Given the description of an element on the screen output the (x, y) to click on. 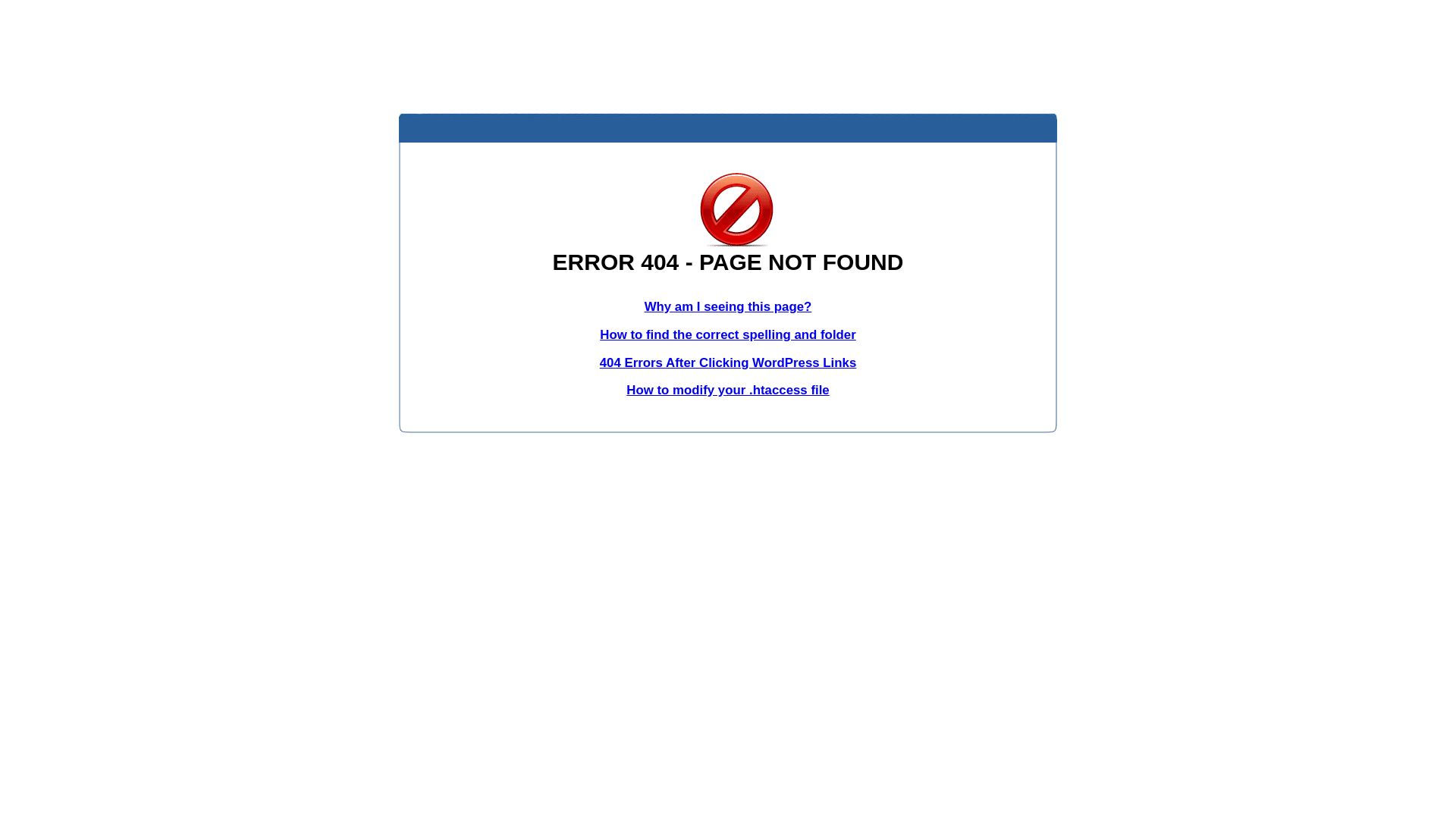
Why am I seeing this page? Element type: text (728, 306)
404 Errors After Clicking WordPress Links Element type: text (727, 362)
How to modify your .htaccess file Element type: text (727, 389)
How to find the correct spelling and folder Element type: text (727, 334)
